Given the description of an element on the screen output the (x, y) to click on. 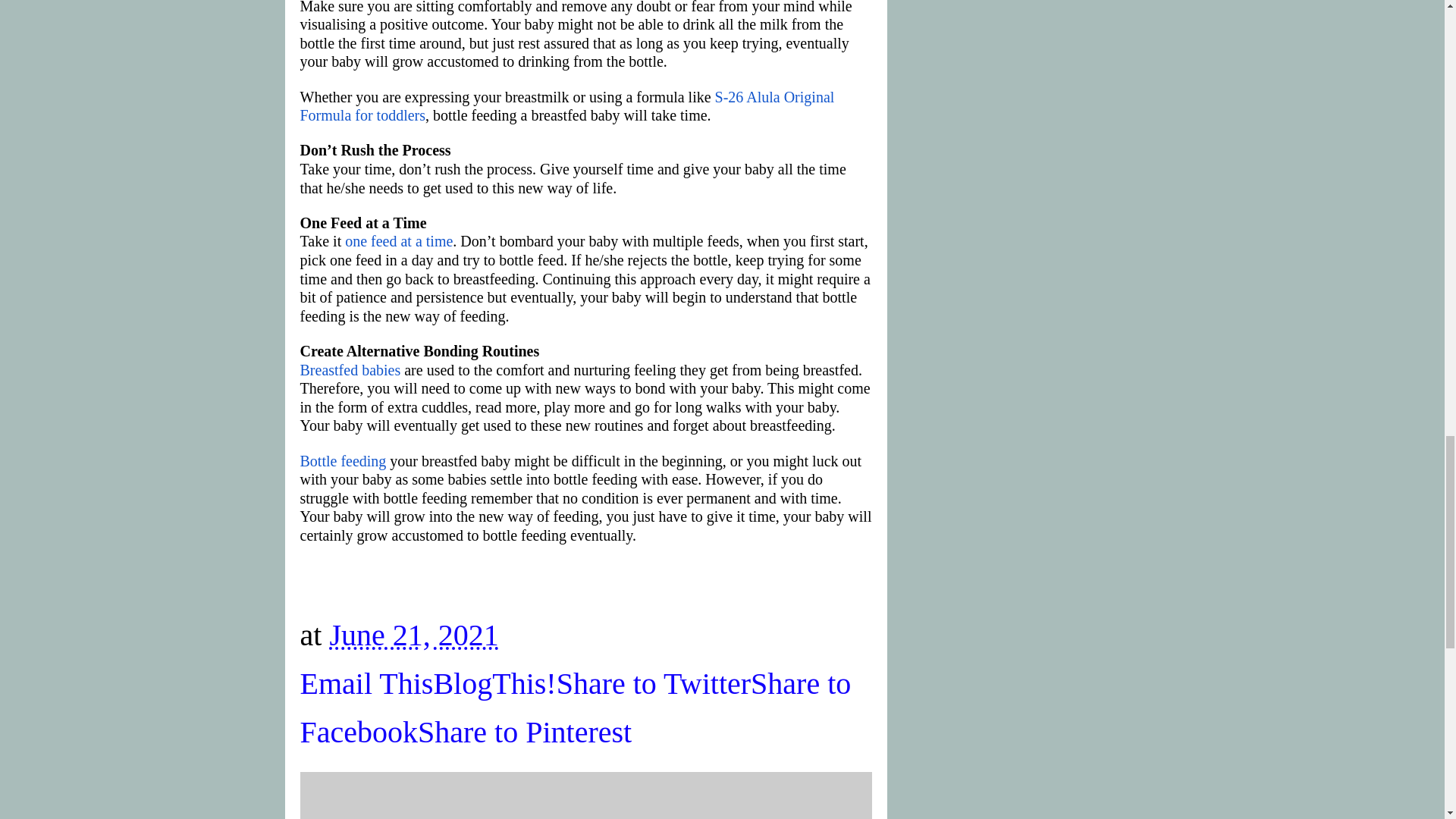
Share to Twitter (653, 683)
Breastfed babies (350, 370)
Email This (366, 683)
BlogThis! (494, 683)
permanent link (413, 634)
Bottle feeding  (344, 460)
one feed at a time (398, 241)
Share to Facebook (575, 707)
Email This (366, 683)
June 21, 2021 (413, 634)
